Given the description of an element on the screen output the (x, y) to click on. 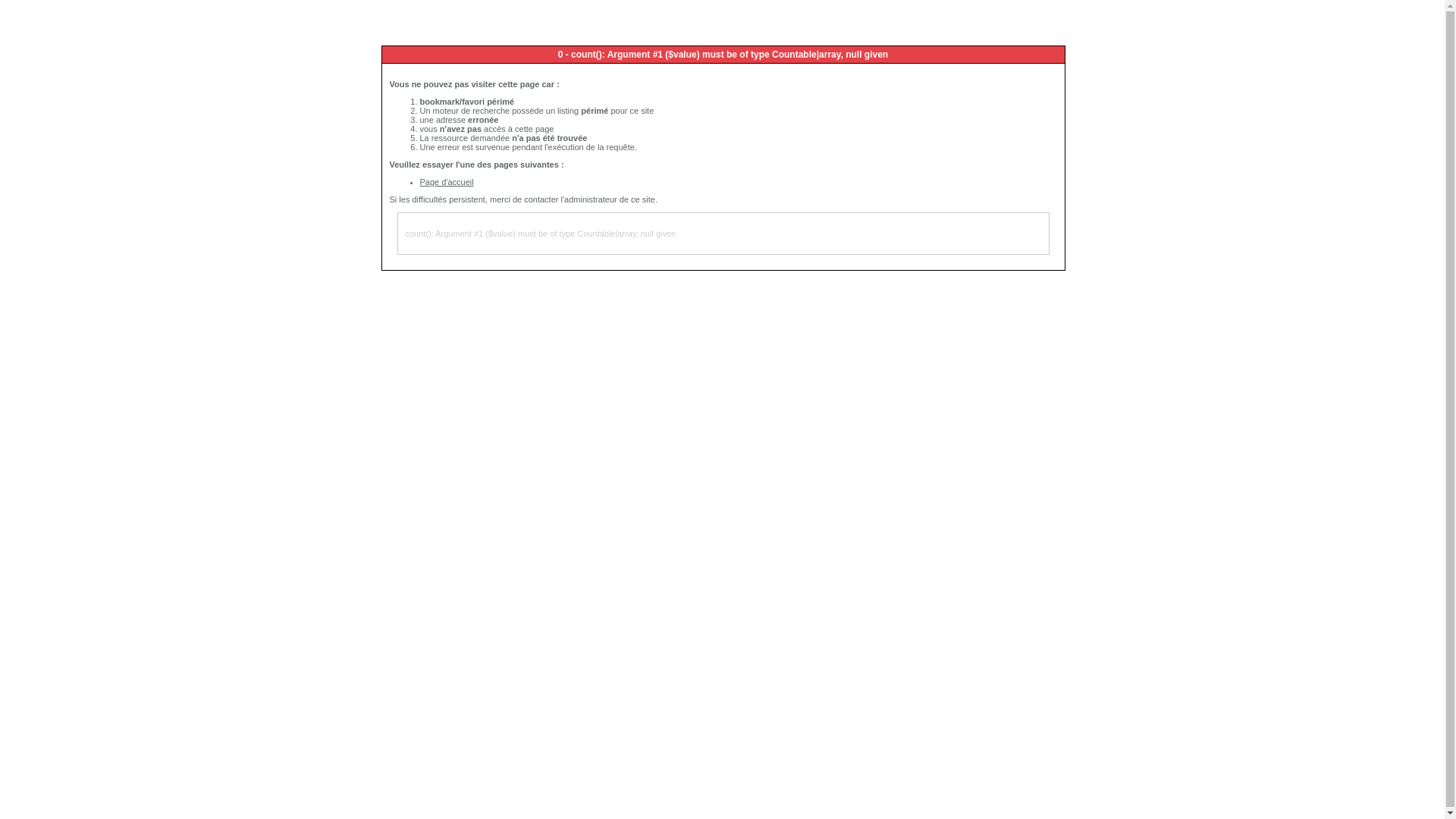
Page d'accueil Element type: text (446, 181)
